Given the description of an element on the screen output the (x, y) to click on. 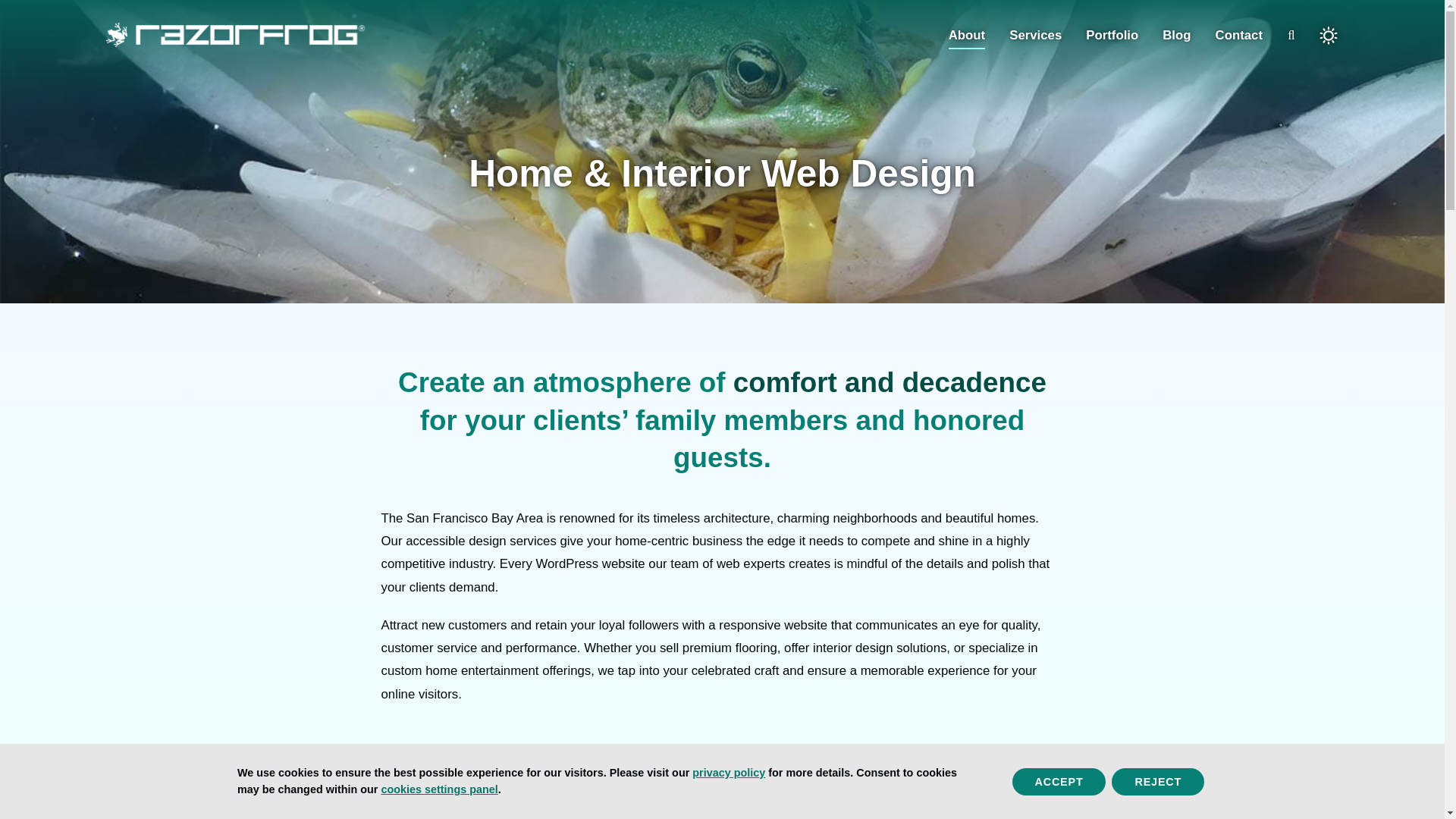
Blog (1176, 35)
Portfolio (1112, 35)
Services (1035, 35)
Contact (1238, 35)
About (967, 35)
